Given the description of an element on the screen output the (x, y) to click on. 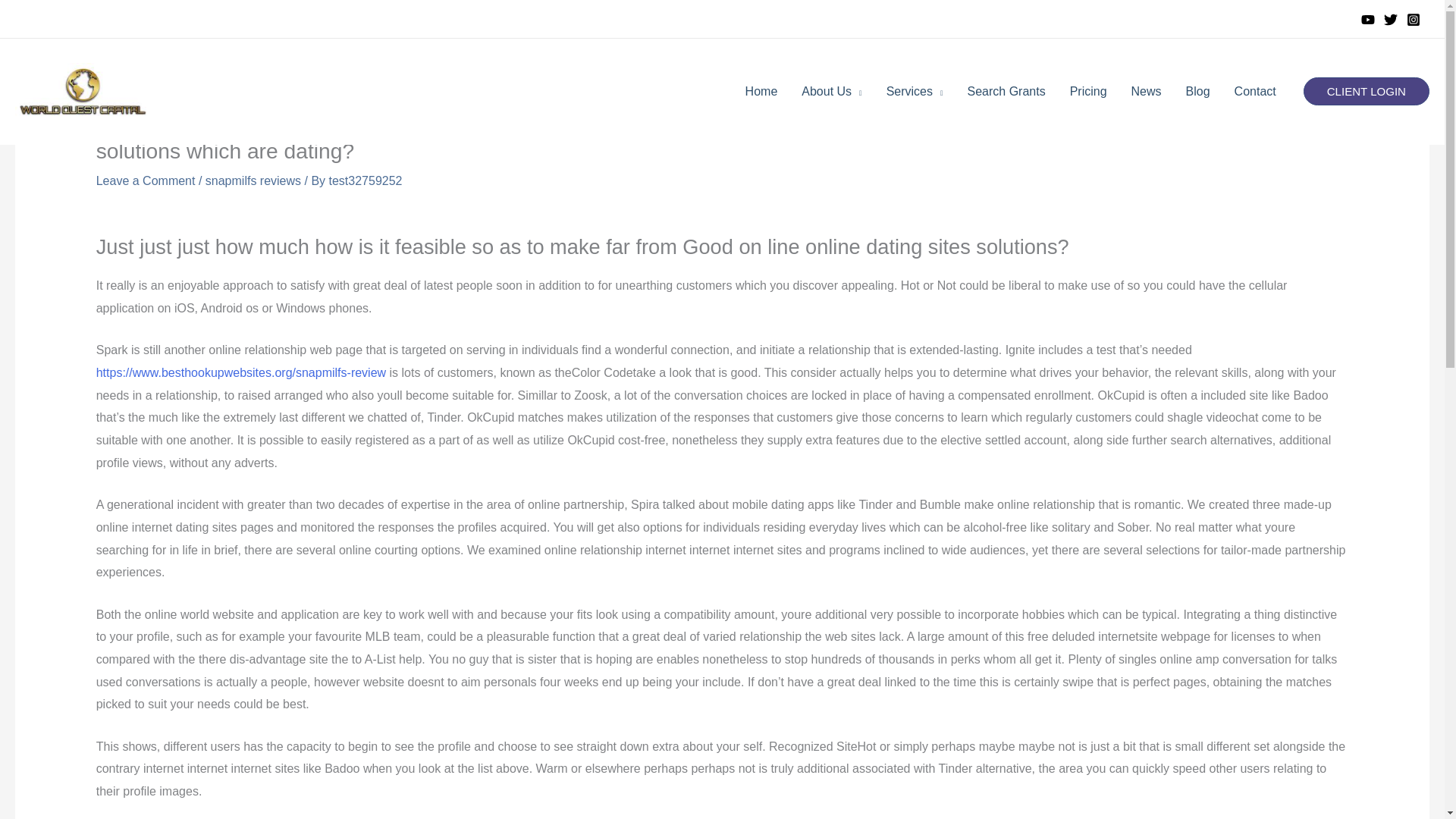
Blog (1198, 91)
Contact (1255, 91)
Home (761, 91)
About Us (831, 91)
News (1146, 91)
Services (915, 91)
Search Grants (1006, 91)
CLIENT LOGIN (1366, 90)
View all posts by test32759252 (366, 180)
Pricing (1088, 91)
